Given the description of an element on the screen output the (x, y) to click on. 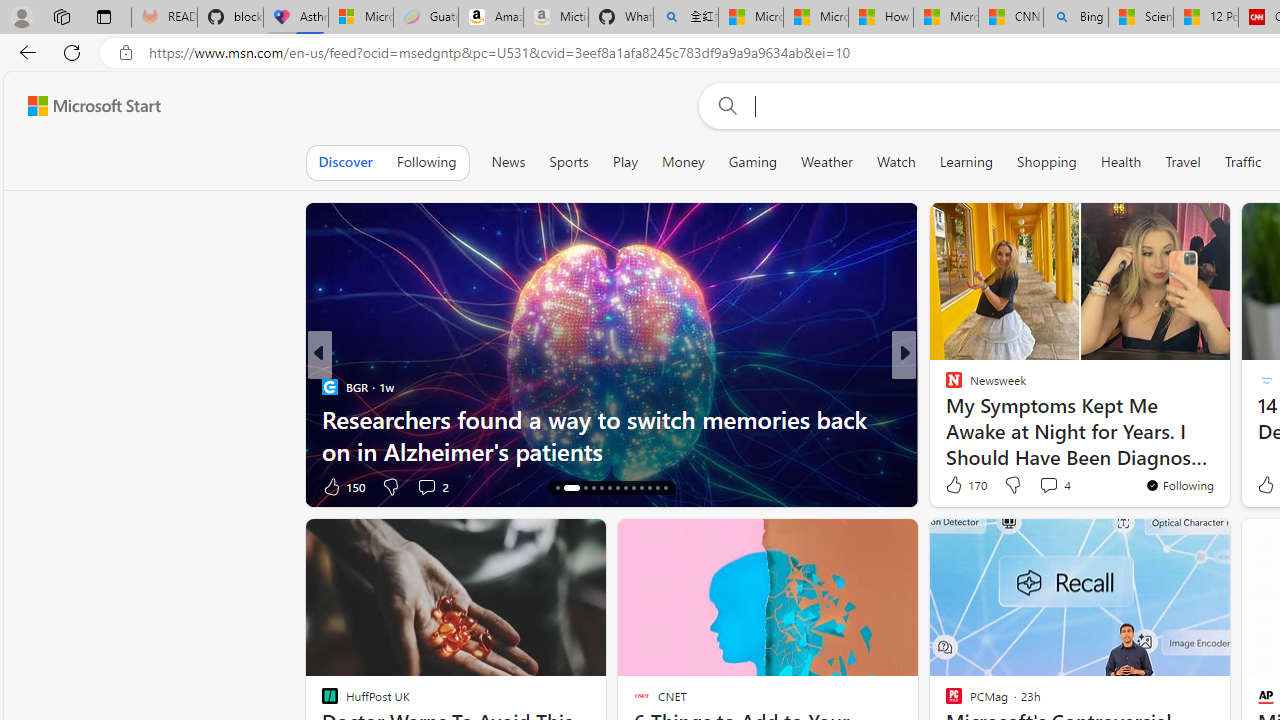
AutomationID: tab-19 (609, 487)
View comments 42 Comment (1042, 485)
View comments 34 Comment (1042, 485)
FOX News (944, 386)
AutomationID: tab-17 (592, 487)
Hide this story (1169, 542)
View comments 73 Comment (1042, 485)
View comments 11 Comment (1042, 485)
104 Like (959, 486)
